Given the description of an element on the screen output the (x, y) to click on. 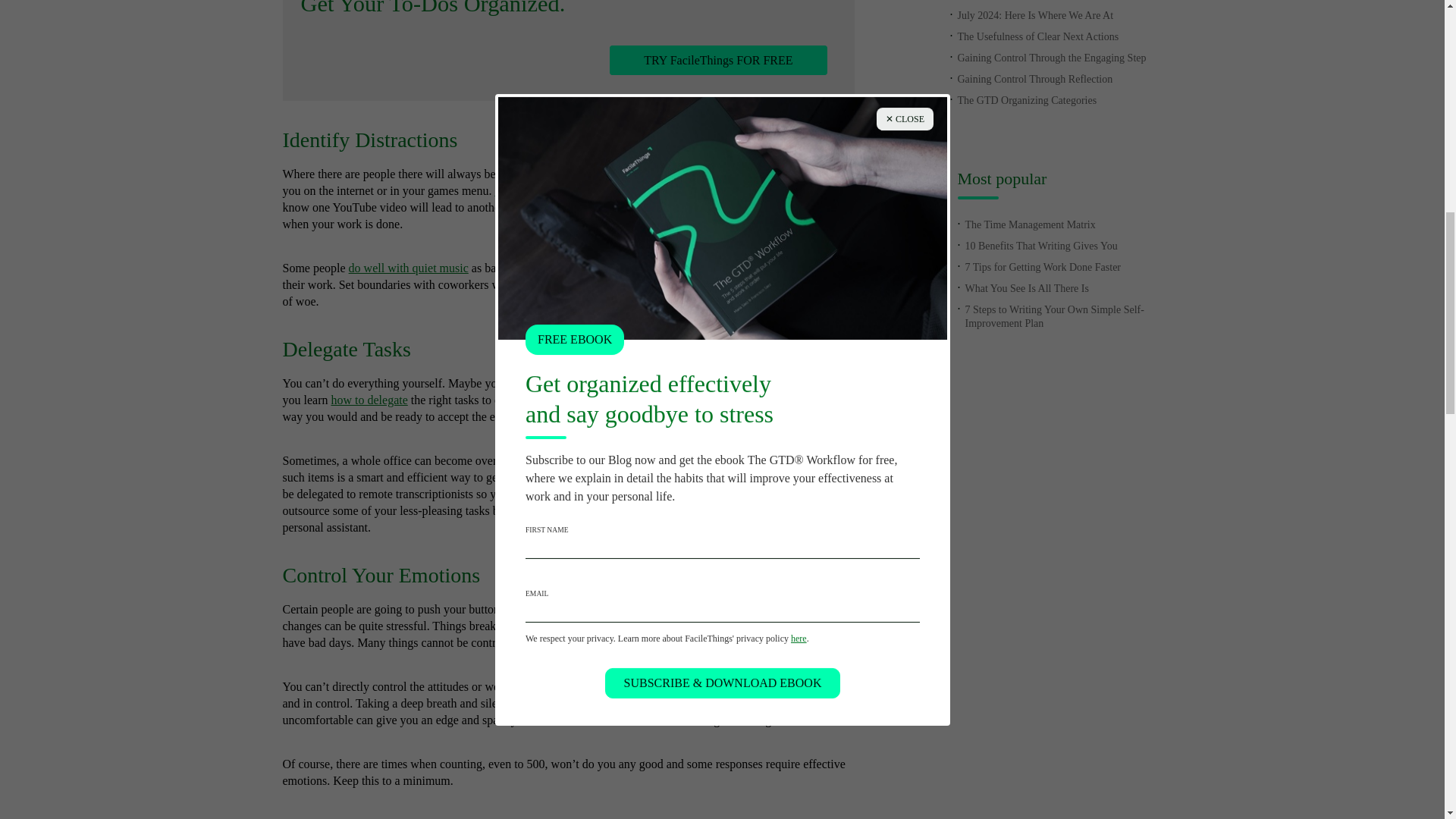
What You See Is All There Is (1025, 288)
7 Tips for Getting Work Done Faster (1042, 266)
7 Steps to Writing Your Own Simple Self-Improvement Plan (1052, 316)
The Time Management Matrix (1028, 224)
The Usefulness of Clear Next Actions (1037, 36)
how to delegate (368, 399)
July 2024: Here Is Where We Are At (1034, 15)
The GTD Organizing Categories (1026, 100)
Gaining Control Through Reflection (1034, 79)
do well with quiet music (408, 267)
TRY FacileThings FOR FREE (718, 60)
Gaining Control Through the Engaging Step (1050, 57)
Be aware of your workplace distractions (592, 190)
10 Benefits That Writing Gives You (1039, 245)
